Given the description of an element on the screen output the (x, y) to click on. 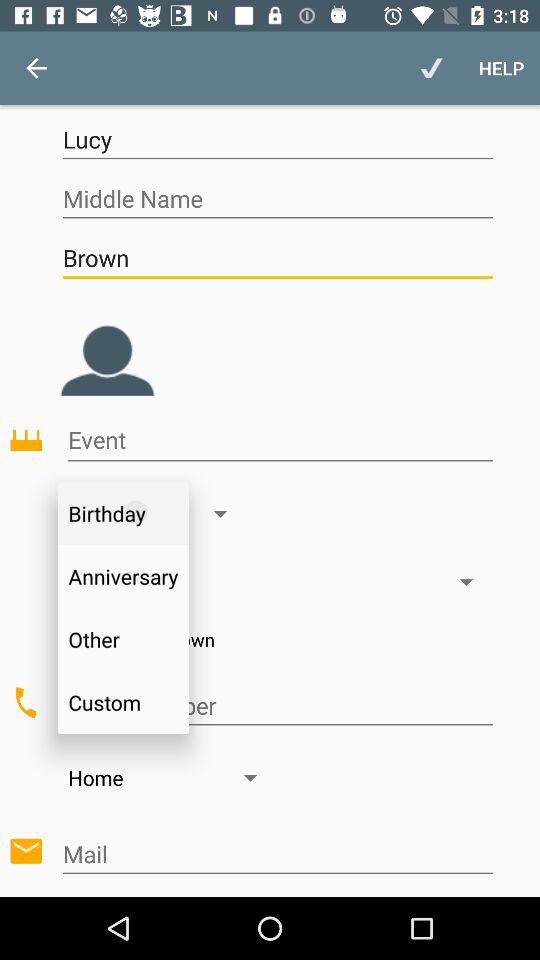
click the icon above birthday icon (280, 439)
